Given the description of an element on the screen output the (x, y) to click on. 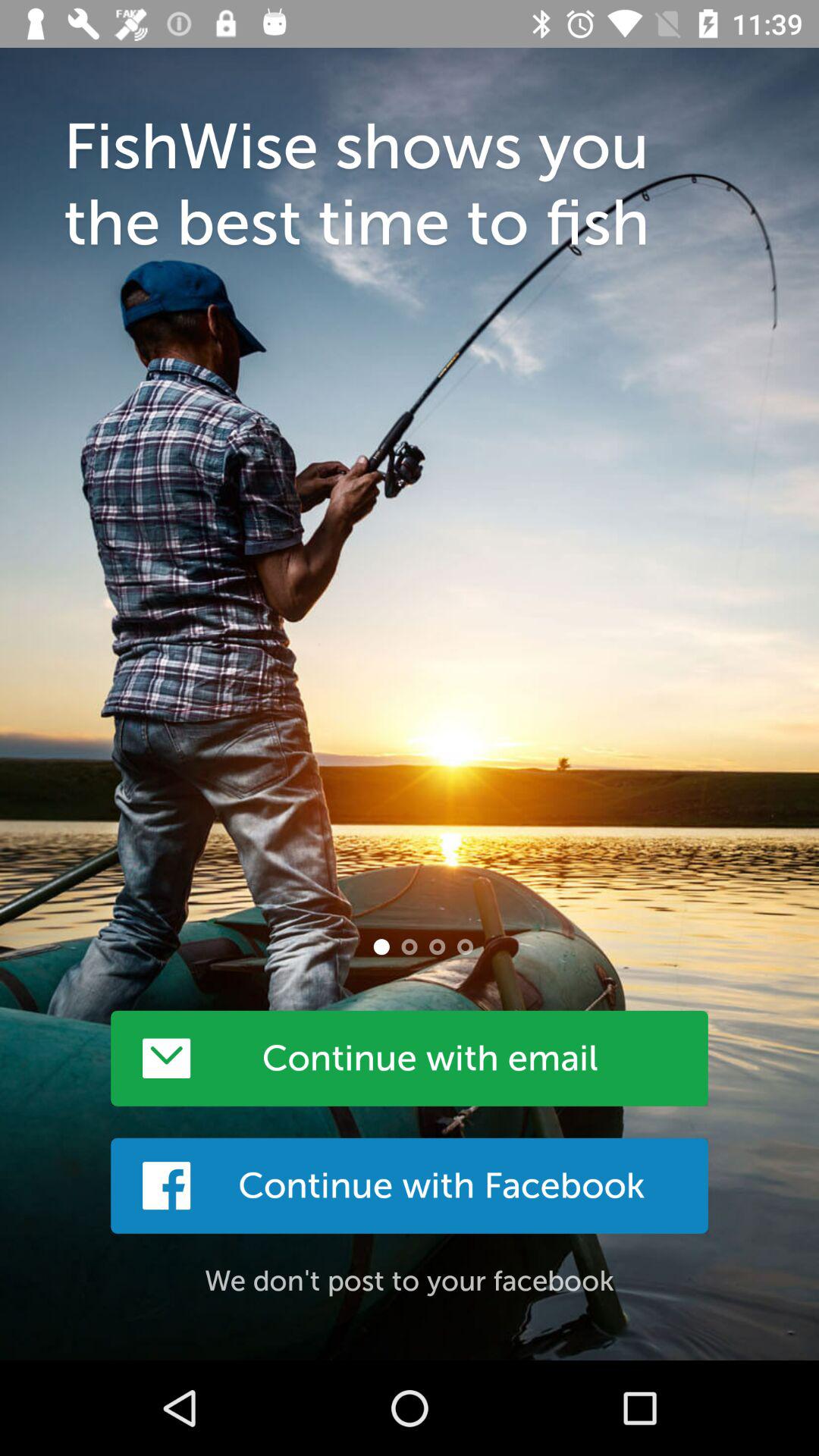
next page (409, 946)
